Given the description of an element on the screen output the (x, y) to click on. 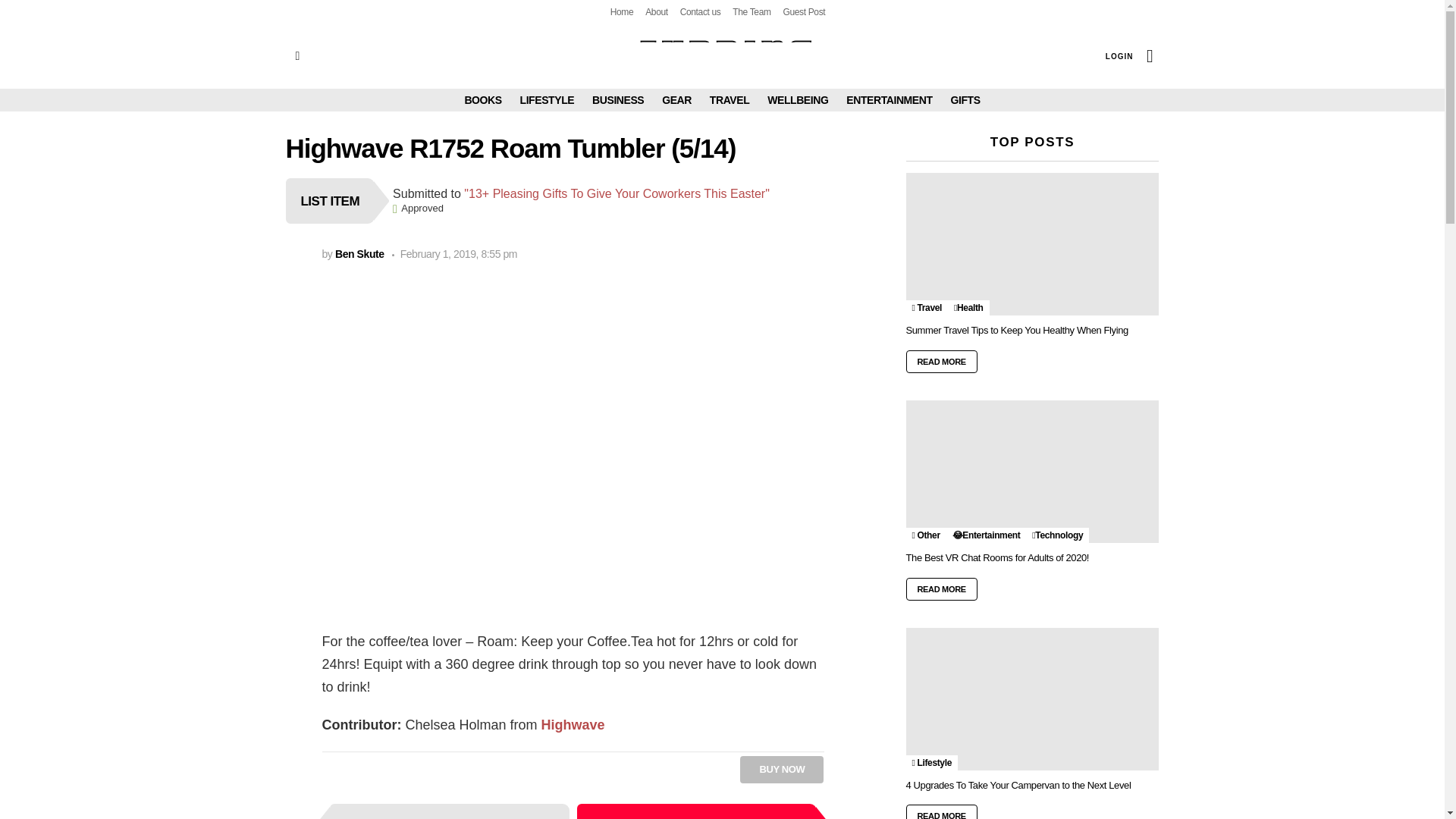
WELLBEING (797, 99)
BOOKS (482, 99)
GIFTS (964, 99)
The Team (751, 12)
Ben Skute (359, 254)
GEAR (675, 99)
The Best VR Chat Rooms for Adults of 2020! (1031, 471)
ENTERTAINMENT (888, 99)
TRAVEL (729, 99)
BUSINESS (617, 99)
About (656, 12)
Posts by Ben Skute (359, 254)
Menu (296, 55)
Guest Post (804, 12)
NEXT SUBMISSION (695, 811)
